Given the description of an element on the screen output the (x, y) to click on. 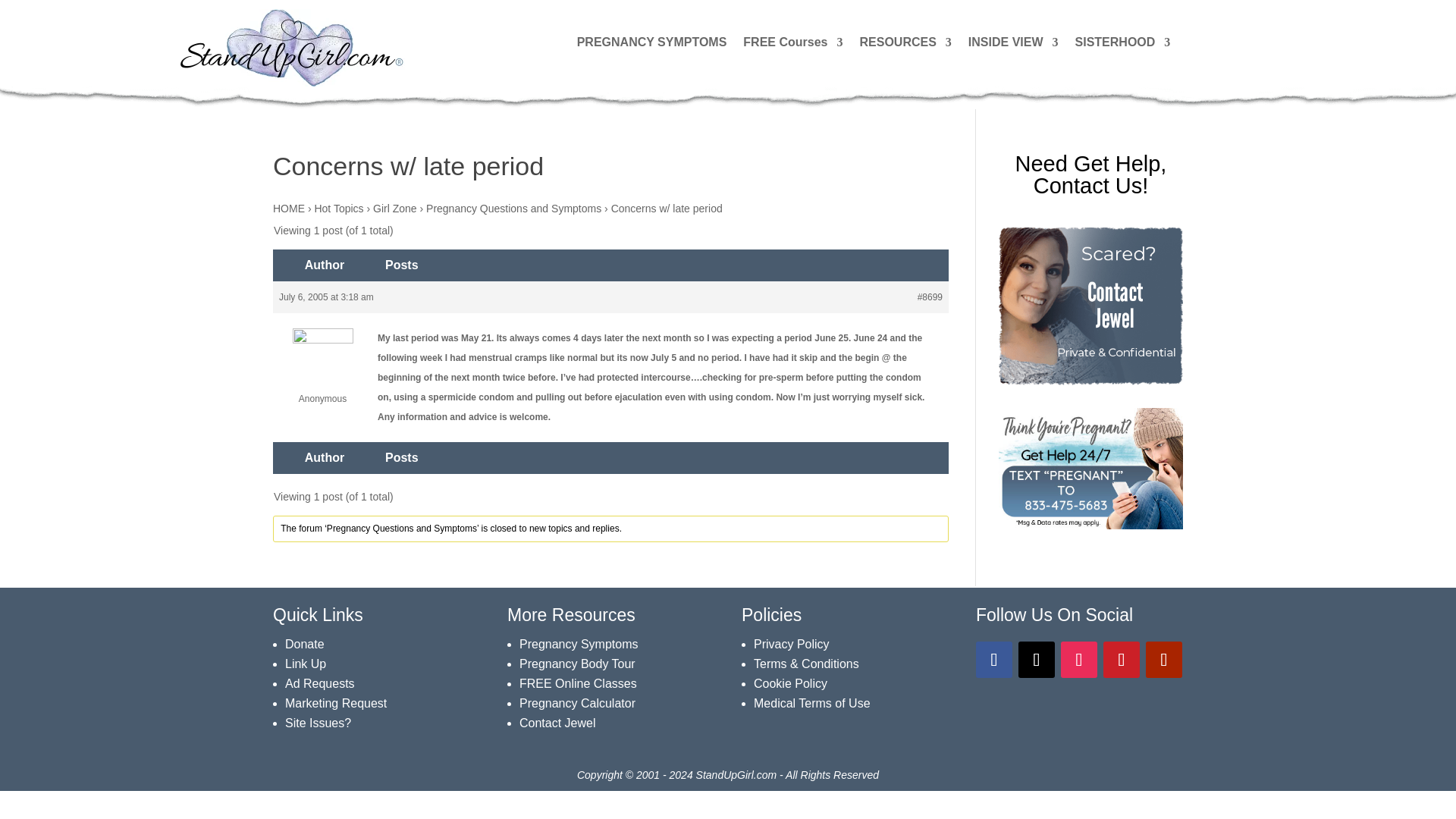
PREGNANCY SYMPTOMS (651, 45)
Follow on Youtube (1163, 659)
Ad Requests (320, 683)
SISTERHOOD (1122, 45)
FREE Courses (792, 45)
BrightCourse Online Classes (578, 683)
Follow on Instagram (1079, 659)
Follow on Pinterest (1121, 659)
Privacy Policy (791, 644)
RESOURCES (904, 45)
INSIDE VIEW (1013, 45)
Site issue contact us (317, 722)
Follow on Facebook (993, 659)
standupgirl.com (290, 47)
Follow on Twitter (1035, 659)
